Given the description of an element on the screen output the (x, y) to click on. 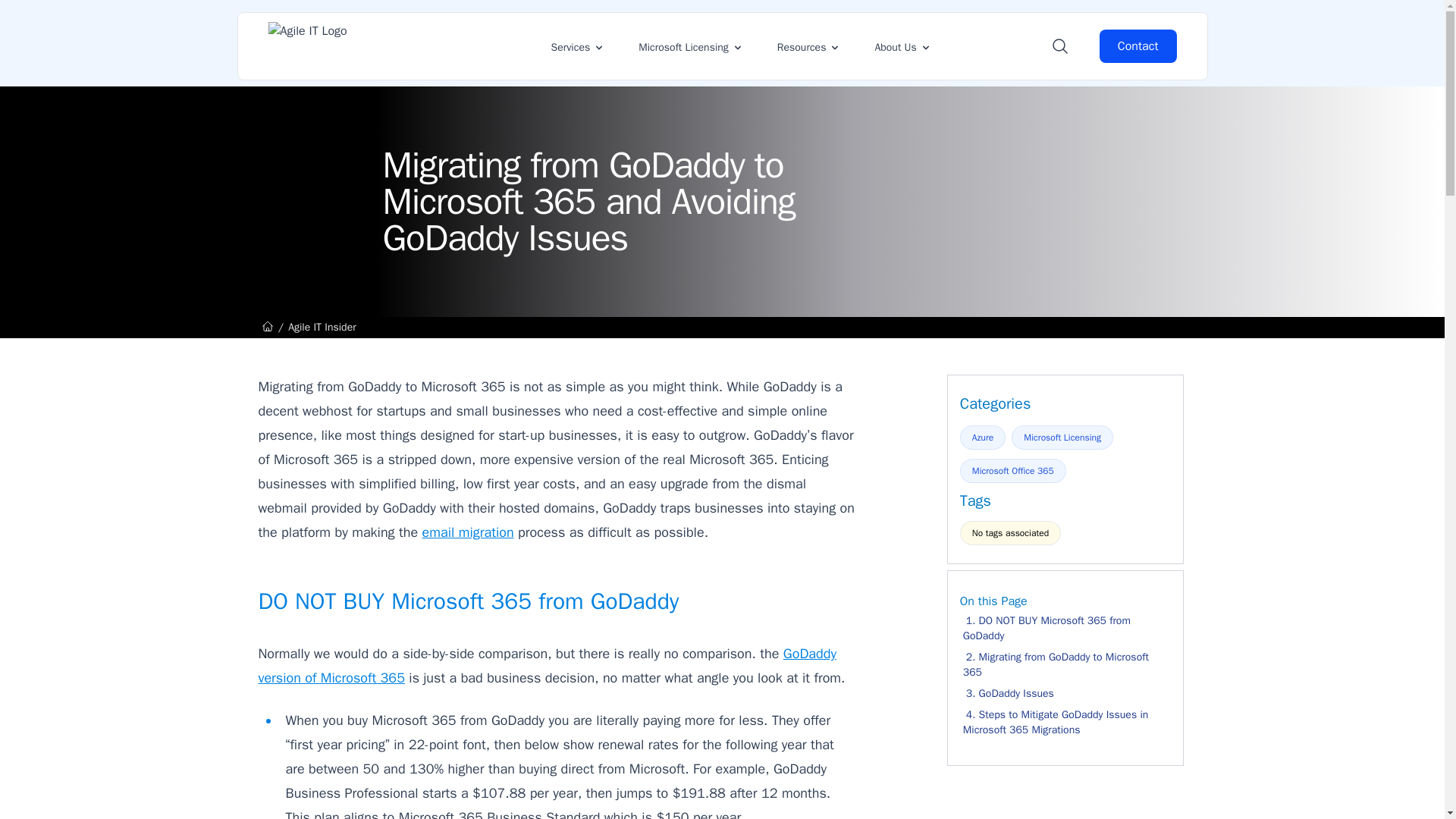
Agile IT Home (352, 46)
Search (1060, 46)
Contact (1137, 46)
Agile IT Insider (321, 327)
Microsoft Licensing (690, 46)
email migration (467, 532)
Services (577, 46)
GoDaddy version of Microsoft 365 (546, 665)
Resources (809, 46)
About Us (902, 46)
